Given the description of an element on the screen output the (x, y) to click on. 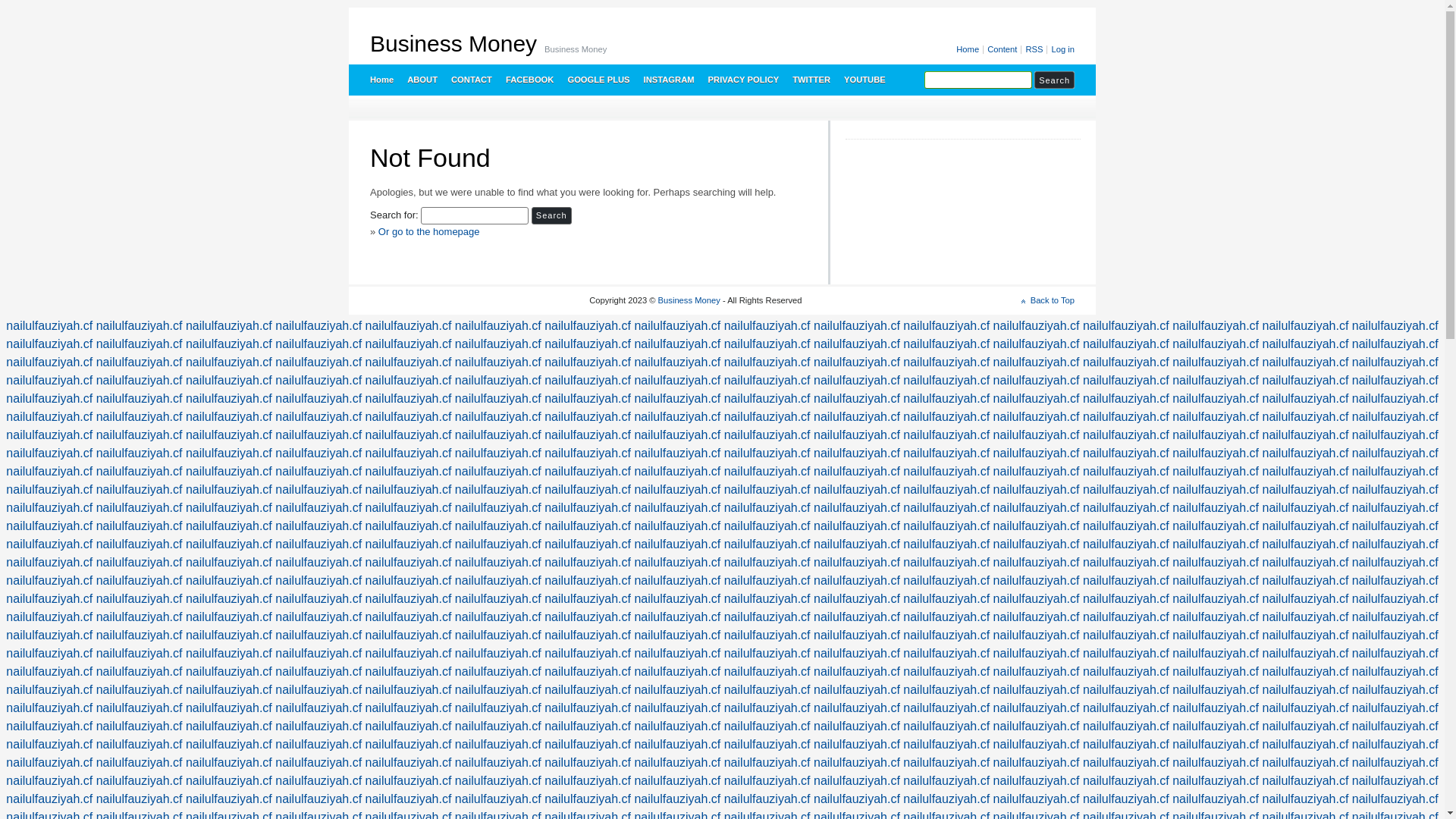
nailulfauziyah.cf Element type: text (587, 470)
nailulfauziyah.cf Element type: text (498, 325)
nailulfauziyah.cf Element type: text (587, 798)
nailulfauziyah.cf Element type: text (1215, 561)
nailulfauziyah.cf Element type: text (1036, 379)
nailulfauziyah.cf Element type: text (1125, 525)
nailulfauziyah.cf Element type: text (767, 798)
nailulfauziyah.cf Element type: text (676, 689)
nailulfauziyah.cf Element type: text (767, 361)
nailulfauziyah.cf Element type: text (946, 634)
nailulfauziyah.cf Element type: text (318, 798)
nailulfauziyah.cf Element type: text (139, 489)
nailulfauziyah.cf Element type: text (139, 616)
Business Money Element type: text (453, 43)
nailulfauziyah.cf Element type: text (408, 598)
nailulfauziyah.cf Element type: text (408, 762)
nailulfauziyah.cf Element type: text (1036, 689)
nailulfauziyah.cf Element type: text (1395, 616)
nailulfauziyah.cf Element type: text (1304, 416)
nailulfauziyah.cf Element type: text (408, 707)
nailulfauziyah.cf Element type: text (946, 525)
nailulfauziyah.cf Element type: text (498, 361)
nailulfauziyah.cf Element type: text (1304, 725)
nailulfauziyah.cf Element type: text (767, 707)
nailulfauziyah.cf Element type: text (1304, 689)
nailulfauziyah.cf Element type: text (318, 489)
nailulfauziyah.cf Element type: text (498, 725)
nailulfauziyah.cf Element type: text (498, 634)
nailulfauziyah.cf Element type: text (676, 780)
nailulfauziyah.cf Element type: text (228, 489)
nailulfauziyah.cf Element type: text (1215, 489)
nailulfauziyah.cf Element type: text (1304, 379)
nailulfauziyah.cf Element type: text (318, 343)
nailulfauziyah.cf Element type: text (946, 707)
nailulfauziyah.cf Element type: text (139, 725)
nailulfauziyah.cf Element type: text (676, 616)
nailulfauziyah.cf Element type: text (1395, 780)
nailulfauziyah.cf Element type: text (1125, 762)
nailulfauziyah.cf Element type: text (139, 689)
nailulfauziyah.cf Element type: text (856, 598)
nailulfauziyah.cf Element type: text (408, 780)
nailulfauziyah.cf Element type: text (1125, 470)
nailulfauziyah.cf Element type: text (498, 489)
ABOUT Element type: text (421, 79)
nailulfauziyah.cf Element type: text (676, 725)
nailulfauziyah.cf Element type: text (498, 743)
nailulfauziyah.cf Element type: text (1395, 543)
nailulfauziyah.cf Element type: text (1304, 707)
nailulfauziyah.cf Element type: text (228, 543)
nailulfauziyah.cf Element type: text (1036, 780)
nailulfauziyah.cf Element type: text (1036, 798)
nailulfauziyah.cf Element type: text (856, 361)
Content Element type: text (1003, 49)
nailulfauziyah.cf Element type: text (139, 780)
nailulfauziyah.cf Element type: text (49, 507)
nailulfauziyah.cf Element type: text (1036, 543)
Home Element type: text (380, 79)
nailulfauziyah.cf Element type: text (767, 598)
nailulfauziyah.cf Element type: text (139, 525)
nailulfauziyah.cf Element type: text (498, 780)
nailulfauziyah.cf Element type: text (408, 689)
nailulfauziyah.cf Element type: text (767, 507)
nailulfauziyah.cf Element type: text (498, 507)
nailulfauziyah.cf Element type: text (767, 580)
nailulfauziyah.cf Element type: text (1395, 325)
nailulfauziyah.cf Element type: text (1036, 671)
nailulfauziyah.cf Element type: text (946, 616)
nailulfauziyah.cf Element type: text (1304, 598)
nailulfauziyah.cf Element type: text (587, 543)
nailulfauziyah.cf Element type: text (1125, 725)
nailulfauziyah.cf Element type: text (228, 707)
Business Money Element type: text (689, 299)
Back to Top Element type: text (1047, 299)
nailulfauziyah.cf Element type: text (946, 743)
nailulfauziyah.cf Element type: text (1304, 325)
nailulfauziyah.cf Element type: text (767, 616)
nailulfauziyah.cf Element type: text (856, 525)
nailulfauziyah.cf Element type: text (767, 379)
nailulfauziyah.cf Element type: text (408, 470)
nailulfauziyah.cf Element type: text (587, 489)
nailulfauziyah.cf Element type: text (1304, 780)
nailulfauziyah.cf Element type: text (408, 798)
nailulfauziyah.cf Element type: text (228, 361)
nailulfauziyah.cf Element type: text (408, 652)
nailulfauziyah.cf Element type: text (49, 634)
nailulfauziyah.cf Element type: text (318, 452)
nailulfauziyah.cf Element type: text (1304, 743)
nailulfauziyah.cf Element type: text (1395, 416)
nailulfauziyah.cf Element type: text (318, 561)
nailulfauziyah.cf Element type: text (1215, 452)
nailulfauziyah.cf Element type: text (1215, 743)
nailulfauziyah.cf Element type: text (1395, 707)
nailulfauziyah.cf Element type: text (139, 707)
Search Element type: text (551, 215)
nailulfauziyah.cf Element type: text (1125, 598)
nailulfauziyah.cf Element type: text (139, 652)
nailulfauziyah.cf Element type: text (1395, 598)
nailulfauziyah.cf Element type: text (1036, 652)
nailulfauziyah.cf Element type: text (139, 543)
nailulfauziyah.cf Element type: text (49, 671)
nailulfauziyah.cf Element type: text (587, 525)
nailulfauziyah.cf Element type: text (1215, 580)
nailulfauziyah.cf Element type: text (676, 434)
nailulfauziyah.cf Element type: text (408, 325)
nailulfauziyah.cf Element type: text (1036, 616)
nailulfauziyah.cf Element type: text (1215, 343)
nailulfauziyah.cf Element type: text (1036, 561)
nailulfauziyah.cf Element type: text (1036, 598)
nailulfauziyah.cf Element type: text (856, 379)
nailulfauziyah.cf Element type: text (1036, 343)
nailulfauziyah.cf Element type: text (408, 525)
nailulfauziyah.cf Element type: text (1395, 470)
nailulfauziyah.cf Element type: text (498, 598)
nailulfauziyah.cf Element type: text (946, 762)
FACEBOOK Element type: text (529, 79)
nailulfauziyah.cf Element type: text (1395, 561)
nailulfauziyah.cf Element type: text (676, 652)
nailulfauziyah.cf Element type: text (1215, 598)
nailulfauziyah.cf Element type: text (1036, 325)
nailulfauziyah.cf Element type: text (228, 507)
nailulfauziyah.cf Element type: text (587, 379)
nailulfauziyah.cf Element type: text (408, 416)
nailulfauziyah.cf Element type: text (1125, 652)
nailulfauziyah.cf Element type: text (498, 762)
nailulfauziyah.cf Element type: text (1215, 434)
nailulfauziyah.cf Element type: text (676, 762)
nailulfauziyah.cf Element type: text (1304, 452)
nailulfauziyah.cf Element type: text (946, 361)
nailulfauziyah.cf Element type: text (946, 543)
nailulfauziyah.cf Element type: text (1304, 507)
nailulfauziyah.cf Element type: text (318, 743)
nailulfauziyah.cf Element type: text (498, 561)
nailulfauziyah.cf Element type: text (856, 634)
nailulfauziyah.cf Element type: text (1215, 671)
nailulfauziyah.cf Element type: text (228, 416)
nailulfauziyah.cf Element type: text (1215, 652)
nailulfauziyah.cf Element type: text (408, 507)
nailulfauziyah.cf Element type: text (767, 743)
nailulfauziyah.cf Element type: text (139, 398)
nailulfauziyah.cf Element type: text (767, 343)
nailulfauziyah.cf Element type: text (1036, 743)
nailulfauziyah.cf Element type: text (408, 398)
nailulfauziyah.cf Element type: text (139, 507)
nailulfauziyah.cf Element type: text (676, 598)
nailulfauziyah.cf Element type: text (946, 798)
nailulfauziyah.cf Element type: text (767, 416)
nailulfauziyah.cf Element type: text (49, 398)
nailulfauziyah.cf Element type: text (767, 671)
nailulfauziyah.cf Element type: text (587, 416)
RSS Element type: text (1035, 49)
nailulfauziyah.cf Element type: text (139, 470)
nailulfauziyah.cf Element type: text (139, 343)
nailulfauziyah.cf Element type: text (1304, 525)
nailulfauziyah.cf Element type: text (228, 689)
nailulfauziyah.cf Element type: text (1215, 416)
nailulfauziyah.cf Element type: text (1036, 725)
Search Element type: text (1054, 79)
nailulfauziyah.cf Element type: text (49, 543)
nailulfauziyah.cf Element type: text (856, 507)
PRIVACY POLICY Element type: text (742, 79)
nailulfauziyah.cf Element type: text (1125, 616)
nailulfauziyah.cf Element type: text (1215, 634)
nailulfauziyah.cf Element type: text (1215, 361)
nailulfauziyah.cf Element type: text (49, 689)
nailulfauziyah.cf Element type: text (408, 434)
nailulfauziyah.cf Element type: text (1125, 398)
nailulfauziyah.cf Element type: text (1395, 671)
nailulfauziyah.cf Element type: text (856, 743)
nailulfauziyah.cf Element type: text (318, 634)
nailulfauziyah.cf Element type: text (1304, 634)
TWITTER Element type: text (810, 79)
nailulfauziyah.cf Element type: text (946, 671)
nailulfauziyah.cf Element type: text (139, 743)
nailulfauziyah.cf Element type: text (946, 598)
nailulfauziyah.cf Element type: text (1125, 543)
nailulfauziyah.cf Element type: text (1125, 707)
nailulfauziyah.cf Element type: text (676, 798)
nailulfauziyah.cf Element type: text (1125, 671)
nailulfauziyah.cf Element type: text (587, 762)
nailulfauziyah.cf Element type: text (1215, 525)
nailulfauziyah.cf Element type: text (408, 634)
nailulfauziyah.cf Element type: text (1304, 543)
nailulfauziyah.cf Element type: text (139, 634)
nailulfauziyah.cf Element type: text (1395, 398)
nailulfauziyah.cf Element type: text (318, 780)
nailulfauziyah.cf Element type: text (946, 470)
nailulfauziyah.cf Element type: text (767, 689)
nailulfauziyah.cf Element type: text (946, 725)
nailulfauziyah.cf Element type: text (946, 398)
nailulfauziyah.cf Element type: text (139, 361)
nailulfauziyah.cf Element type: text (676, 707)
nailulfauziyah.cf Element type: text (1215, 543)
nailulfauziyah.cf Element type: text (228, 398)
nailulfauziyah.cf Element type: text (498, 543)
YOUTUBE Element type: text (863, 79)
nailulfauziyah.cf Element type: text (587, 452)
nailulfauziyah.cf Element type: text (856, 561)
nailulfauziyah.cf Element type: text (1036, 525)
nailulfauziyah.cf Element type: text (228, 452)
nailulfauziyah.cf Element type: text (49, 489)
nailulfauziyah.cf Element type: text (767, 543)
nailulfauziyah.cf Element type: text (946, 561)
nailulfauziyah.cf Element type: text (767, 762)
nailulfauziyah.cf Element type: text (408, 361)
nailulfauziyah.cf Element type: text (498, 434)
nailulfauziyah.cf Element type: text (228, 762)
nailulfauziyah.cf Element type: text (498, 398)
nailulfauziyah.cf Element type: text (676, 525)
nailulfauziyah.cf Element type: text (856, 325)
nailulfauziyah.cf Element type: text (1215, 325)
nailulfauziyah.cf Element type: text (587, 634)
nailulfauziyah.cf Element type: text (1395, 507)
nailulfauziyah.cf Element type: text (318, 598)
nailulfauziyah.cf Element type: text (1395, 580)
nailulfauziyah.cf Element type: text (676, 580)
nailulfauziyah.cf Element type: text (408, 452)
nailulfauziyah.cf Element type: text (49, 561)
nailulfauziyah.cf Element type: text (767, 452)
nailulfauziyah.cf Element type: text (228, 580)
nailulfauziyah.cf Element type: text (1215, 725)
nailulfauziyah.cf Element type: text (1304, 580)
nailulfauziyah.cf Element type: text (408, 616)
nailulfauziyah.cf Element type: text (946, 379)
INSTAGRAM Element type: text (668, 79)
nailulfauziyah.cf Element type: text (498, 671)
nailulfauziyah.cf Element type: text (318, 398)
nailulfauziyah.cf Element type: text (139, 434)
nailulfauziyah.cf Element type: text (1304, 489)
nailulfauziyah.cf Element type: text (49, 580)
nailulfauziyah.cf Element type: text (767, 470)
nailulfauziyah.cf Element type: text (1395, 525)
nailulfauziyah.cf Element type: text (946, 416)
nailulfauziyah.cf Element type: text (1395, 743)
nailulfauziyah.cf Element type: text (767, 525)
nailulfauziyah.cf Element type: text (498, 652)
nailulfauziyah.cf Element type: text (587, 434)
nailulfauziyah.cf Element type: text (1125, 689)
nailulfauziyah.cf Element type: text (498, 798)
Log in Element type: text (1061, 49)
nailulfauziyah.cf Element type: text (1036, 398)
nailulfauziyah.cf Element type: text (498, 452)
nailulfauziyah.cf Element type: text (856, 798)
nailulfauziyah.cf Element type: text (49, 525)
nailulfauziyah.cf Element type: text (49, 652)
nailulfauziyah.cf Element type: text (139, 561)
nailulfauziyah.cf Element type: text (408, 743)
nailulfauziyah.cf Element type: text (1304, 561)
nailulfauziyah.cf Element type: text (498, 580)
nailulfauziyah.cf Element type: text (676, 470)
nailulfauziyah.cf Element type: text (946, 489)
nailulfauziyah.cf Element type: text (498, 689)
nailulfauziyah.cf Element type: text (49, 416)
nailulfauziyah.cf Element type: text (587, 652)
nailulfauziyah.cf Element type: text (498, 616)
nailulfauziyah.cf Element type: text (228, 798)
nailulfauziyah.cf Element type: text (1125, 634)
nailulfauziyah.cf Element type: text (856, 416)
nailulfauziyah.cf Element type: text (228, 598)
nailulfauziyah.cf Element type: text (408, 543)
nailulfauziyah.cf Element type: text (1304, 343)
CONTACT Element type: text (470, 79)
nailulfauziyah.cf Element type: text (1125, 798)
nailulfauziyah.cf Element type: text (139, 416)
nailulfauziyah.cf Element type: text (49, 598)
nailulfauziyah.cf Element type: text (139, 379)
nailulfauziyah.cf Element type: text (1395, 452)
nailulfauziyah.cf Element type: text (1125, 325)
nailulfauziyah.cf Element type: text (228, 634)
nailulfauziyah.cf Element type: text (408, 580)
nailulfauziyah.cf Element type: text (228, 325)
nailulfauziyah.cf Element type: text (1304, 616)
nailulfauziyah.cf Element type: text (498, 379)
nailulfauziyah.cf Element type: text (1304, 798)
nailulfauziyah.cf Element type: text (767, 325)
nailulfauziyah.cf Element type: text (318, 325)
nailulfauziyah.cf Element type: text (49, 470)
nailulfauziyah.cf Element type: text (228, 470)
nailulfauziyah.cf Element type: text (1215, 762)
nailulfauziyah.cf Element type: text (856, 725)
nailulfauziyah.cf Element type: text (498, 525)
nailulfauziyah.cf Element type: text (1215, 398)
nailulfauziyah.cf Element type: text (1125, 489)
nailulfauziyah.cf Element type: text (228, 434)
nailulfauziyah.cf Element type: text (1395, 798)
nailulfauziyah.cf Element type: text (676, 743)
nailulfauziyah.cf Element type: text (1395, 689)
nailulfauziyah.cf Element type: text (767, 634)
nailulfauziyah.cf Element type: text (1215, 470)
nailulfauziyah.cf Element type: text (318, 689)
nailulfauziyah.cf Element type: text (767, 561)
nailulfauziyah.cf Element type: text (856, 398)
nailulfauziyah.cf Element type: text (587, 743)
nailulfauziyah.cf Element type: text (587, 707)
nailulfauziyah.cf Element type: text (856, 452)
nailulfauziyah.cf Element type: text (318, 416)
nailulfauziyah.cf Element type: text (676, 361)
nailulfauziyah.cf Element type: text (1125, 561)
nailulfauziyah.cf Element type: text (1215, 798)
nailulfauziyah.cf Element type: text (587, 689)
nailulfauziyah.cf Element type: text (1395, 652)
nailulfauziyah.cf Element type: text (1304, 361)
nailulfauziyah.cf Element type: text (1036, 507)
nailulfauziyah.cf Element type: text (228, 379)
nailulfauziyah.cf Element type: text (767, 780)
nailulfauziyah.cf Element type: text (1125, 780)
nailulfauziyah.cf Element type: text (856, 434)
nailulfauziyah.cf Element type: text (318, 361)
nailulfauziyah.cf Element type: text (1395, 762)
GOOGLE PLUS Element type: text (597, 79)
nailulfauziyah.cf Element type: text (139, 580)
nailulfauziyah.cf Element type: text (49, 725)
nailulfauziyah.cf Element type: text (767, 398)
nailulfauziyah.cf Element type: text (856, 762)
nailulfauziyah.cf Element type: text (408, 343)
nailulfauziyah.cf Element type: text (318, 725)
nailulfauziyah.cf Element type: text (856, 671)
nailulfauziyah.cf Element type: text (1215, 616)
nailulfauziyah.cf Element type: text (1036, 361)
nailulfauziyah.cf Element type: text (49, 325)
nailulfauziyah.cf Element type: text (676, 398)
nailulfauziyah.cf Element type: text (318, 707)
nailulfauziyah.cf Element type: text (856, 616)
nailulfauziyah.cf Element type: text (49, 434)
nailulfauziyah.cf Element type: text (1395, 489)
nailulfauziyah.cf Element type: text (767, 434)
nailulfauziyah.cf Element type: text (49, 798)
nailulfauziyah.cf Element type: text (946, 507)
nailulfauziyah.cf Element type: text (1036, 762)
nailulfauziyah.cf Element type: text (318, 434)
nailulfauziyah.cf Element type: text (1125, 507)
nailulfauziyah.cf Element type: text (1304, 434)
nailulfauziyah.cf Element type: text (318, 616)
nailulfauziyah.cf Element type: text (1036, 470)
nailulfauziyah.cf Element type: text (318, 525)
nailulfauziyah.cf Element type: text (1036, 489)
nailulfauziyah.cf Element type: text (587, 580)
nailulfauziyah.cf Element type: text (408, 489)
nailulfauziyah.cf Element type: text (498, 416)
nailulfauziyah.cf Element type: text (318, 652)
nailulfauziyah.cf Element type: text (1304, 398)
nailulfauziyah.cf Element type: text (676, 634)
nailulfauziyah.cf Element type: text (49, 616)
nailulfauziyah.cf Element type: text (1215, 507)
nailulfauziyah.cf Element type: text (49, 762)
nailulfauziyah.cf Element type: text (1395, 379)
nailulfauziyah.cf Element type: text (946, 452)
nailulfauziyah.cf Element type: text (587, 725)
nailulfauziyah.cf Element type: text (676, 416)
nailulfauziyah.cf Element type: text (318, 671)
nailulfauziyah.cf Element type: text (676, 343)
nailulfauziyah.cf Element type: text (1304, 762)
nailulfauziyah.cf Element type: text (228, 561)
nailulfauziyah.cf Element type: text (1304, 470)
nailulfauziyah.cf Element type: text (1215, 689)
nailulfauziyah.cf Element type: text (1036, 580)
nailulfauziyah.cf Element type: text (856, 489)
nailulfauziyah.cf Element type: text (587, 561)
nailulfauziyah.cf Element type: text (946, 434)
nailulfauziyah.cf Element type: text (856, 780)
nailulfauziyah.cf Element type: text (1395, 361)
nailulfauziyah.cf Element type: text (49, 452)
nailulfauziyah.cf Element type: text (228, 343)
nailulfauziyah.cf Element type: text (1215, 379)
nailulfauziyah.cf Element type: text (856, 689)
nailulfauziyah.cf Element type: text (318, 762)
nailulfauziyah.cf Element type: text (228, 725)
nailulfauziyah.cf Element type: text (587, 780)
nailulfauziyah.cf Element type: text (1304, 671)
nailulfauziyah.cf Element type: text (676, 379)
nailulfauziyah.cf Element type: text (587, 671)
nailulfauziyah.cf Element type: text (498, 470)
nailulfauziyah.cf Element type: text (767, 652)
nailulfauziyah.cf Element type: text (1395, 634)
nailulfauziyah.cf Element type: text (1036, 416)
nailulfauziyah.cf Element type: text (139, 325)
nailulfauziyah.cf Element type: text (318, 507)
nailulfauziyah.cf Element type: text (228, 780)
nailulfauziyah.cf Element type: text (767, 489)
nailulfauziyah.cf Element type: text (676, 507)
nailulfauziyah.cf Element type: text (946, 325)
nailulfauziyah.cf Element type: text (946, 689)
nailulfauziyah.cf Element type: text (946, 343)
nailulfauziyah.cf Element type: text (318, 470)
nailulfauziyah.cf Element type: text (228, 525)
nailulfauziyah.cf Element type: text (1215, 707)
nailulfauziyah.cf Element type: text (49, 343)
nailulfauziyah.cf Element type: text (676, 543)
nailulfauziyah.cf Element type: text (139, 798)
nailulfauziyah.cf Element type: text (1215, 780)
nailulfauziyah.cf Element type: text (408, 725)
nailulfauziyah.cf Element type: text (1395, 725)
nailulfauziyah.cf Element type: text (1395, 343)
nailulfauziyah.cf Element type: text (676, 452)
nailulfauziyah.cf Element type: text (1125, 452)
nailulfauziyah.cf Element type: text (676, 489)
nailulfauziyah.cf Element type: text (856, 470)
nailulfauziyah.cf Element type: text (49, 780)
nailulfauziyah.cf Element type: text (856, 707)
nailulfauziyah.cf Element type: text (408, 379)
nailulfauziyah.cf Element type: text (856, 543)
nailulfauziyah.cf Element type: text (587, 343)
nailulfauziyah.cf Element type: text (587, 361)
nailulfauziyah.cf Element type: text (318, 543)
nailulfauziyah.cf Element type: text (228, 652)
nailulfauziyah.cf Element type: text (408, 561)
nailulfauziyah.cf Element type: text (139, 762)
nailulfauziyah.cf Element type: text (1036, 452)
nailulfauziyah.cf Element type: text (228, 743)
nailulfauziyah.cf Element type: text (139, 598)
nailulfauziyah.cf Element type: text (1036, 707)
nailulfauziyah.cf Element type: text (318, 379)
nailulfauziyah.cf Element type: text (1125, 379)
nailulfauziyah.cf Element type: text (587, 325)
Home Element type: text (968, 49)
nailulfauziyah.cf Element type: text (228, 616)
nailulfauziyah.cf Element type: text (1125, 434)
nailulfauziyah.cf Element type: text (1125, 743)
nailulfauziyah.cf Element type: text (1125, 343)
nailulfauziyah.cf Element type: text (1304, 652)
nailulfauziyah.cf Element type: text (1395, 434)
nailulfauziyah.cf Element type: text (946, 580)
nailulfauziyah.cf Element type: text (587, 616)
nailulfauziyah.cf Element type: text (587, 507)
nailulfauziyah.cf Element type: text (408, 671)
nailulfauziyah.cf Element type: text (587, 398)
nailulfauziyah.cf Element type: text (139, 671)
nailulfauziyah.cf Element type: text (228, 671)
nailulfauziyah.cf Element type: text (856, 343)
nailulfauziyah.cf Element type: text (1036, 434)
nailulfauziyah.cf Element type: text (856, 580)
nailulfauziyah.cf Element type: text (946, 652)
nailulfauziyah.cf Element type: text (676, 671)
nailulfauziyah.cf Element type: text (676, 325)
nailulfauziyah.cf Element type: text (1036, 634)
nailulfauziyah.cf Element type: text (498, 707)
nailulfauziyah.cf Element type: text (1125, 416)
nailulfauziyah.cf Element type: text (946, 780)
nailulfauziyah.cf Element type: text (676, 561)
nailulfauziyah.cf Element type: text (139, 452)
nailulfauziyah.cf Element type: text (767, 725)
Or go to the homepage Element type: text (429, 231)
nailulfauziyah.cf Element type: text (1125, 580)
nailulfauziyah.cf Element type: text (318, 580)
nailulfauziyah.cf Element type: text (49, 379)
nailulfauziyah.cf Element type: text (49, 361)
nailulfauziyah.cf Element type: text (587, 598)
nailulfauziyah.cf Element type: text (1125, 361)
nailulfauziyah.cf Element type: text (856, 652)
nailulfauziyah.cf Element type: text (498, 343)
nailulfauziyah.cf Element type: text (49, 743)
nailulfauziyah.cf Element type: text (49, 707)
